Given the description of an element on the screen output the (x, y) to click on. 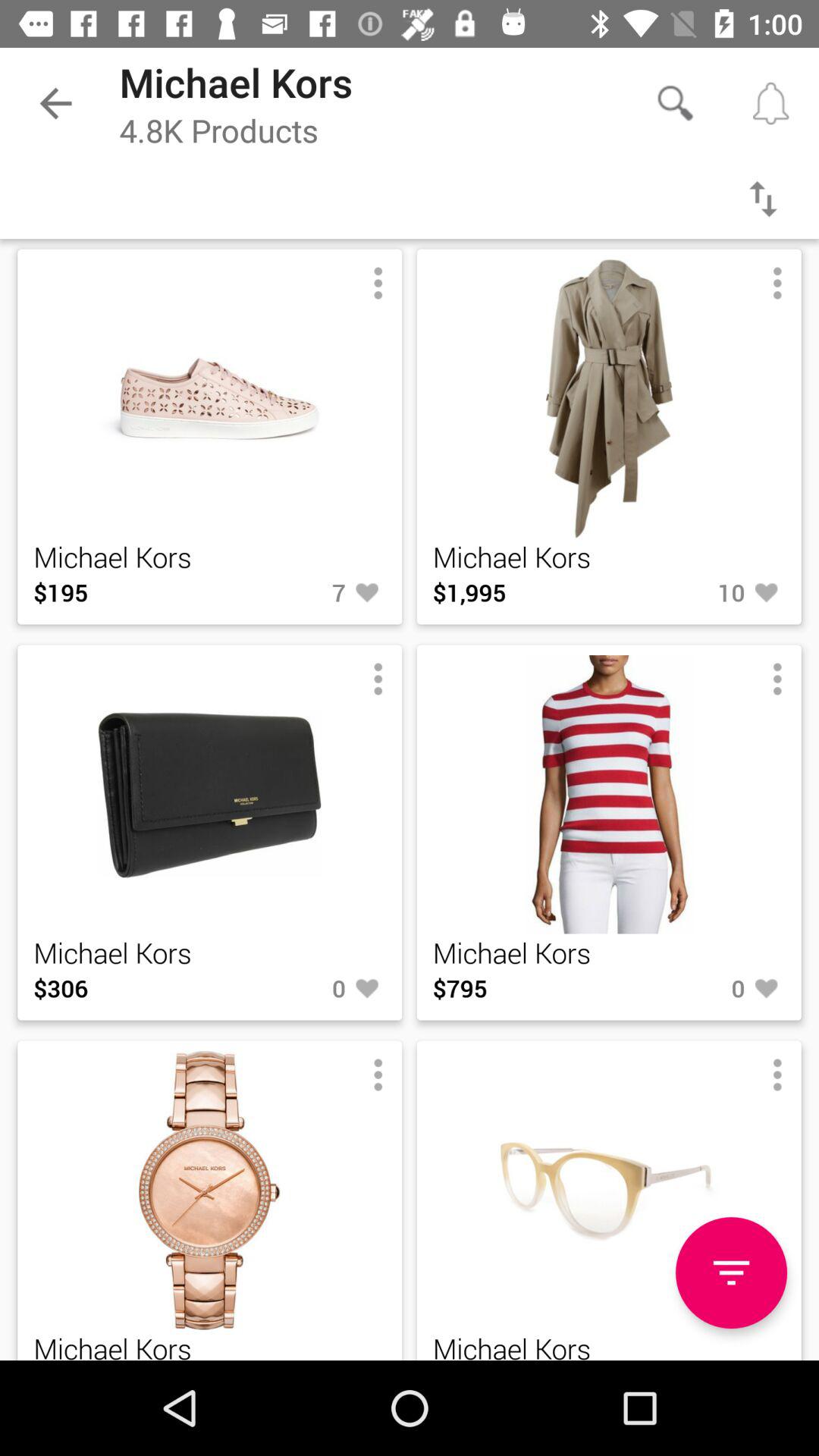
scroll to the 7 item (297, 592)
